Given the description of an element on the screen output the (x, y) to click on. 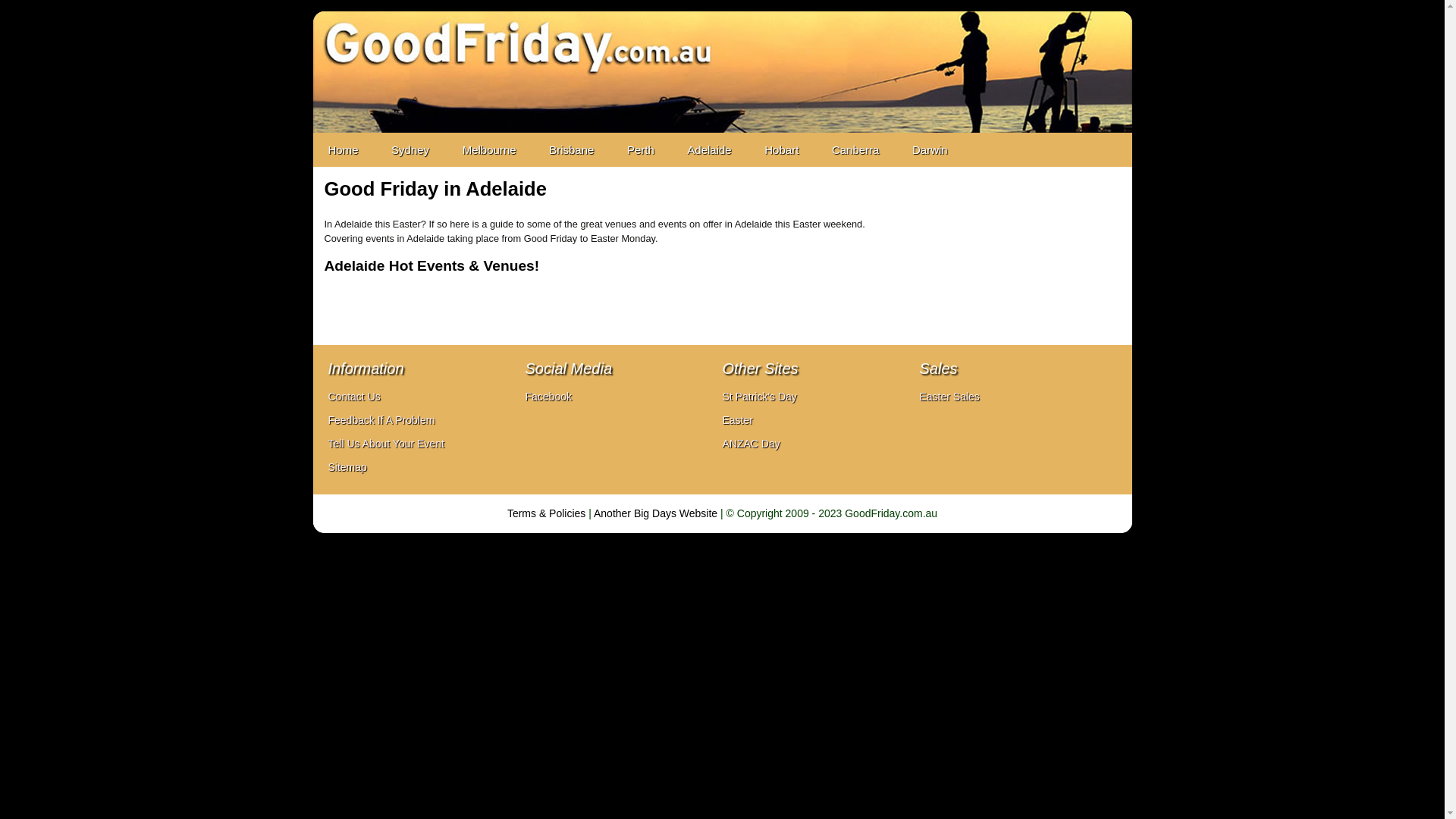
Sydney Element type: text (410, 149)
Perth Element type: text (640, 149)
Canberra Element type: text (855, 149)
Easter Sales Element type: text (949, 396)
Easter Element type: text (736, 420)
St Patrick's Day Element type: text (758, 396)
Feedback If A Problem Element type: text (380, 420)
Skip to content Element type: text (344, 139)
Sitemap Element type: text (346, 467)
Contact Us Element type: text (353, 396)
ANZAC Day Element type: text (750, 443)
Terms & Policies Element type: text (546, 513)
Melbourne Element type: text (489, 149)
Facebook Element type: text (547, 396)
Hobart Element type: text (781, 149)
Darwin Element type: text (930, 149)
Home Element type: text (342, 149)
Tell Us About Your Event Element type: text (385, 443)
Brisbane Element type: text (570, 149)
Adelaide Element type: text (708, 149)
Another Big Days Website Element type: text (655, 513)
